Given the description of an element on the screen output the (x, y) to click on. 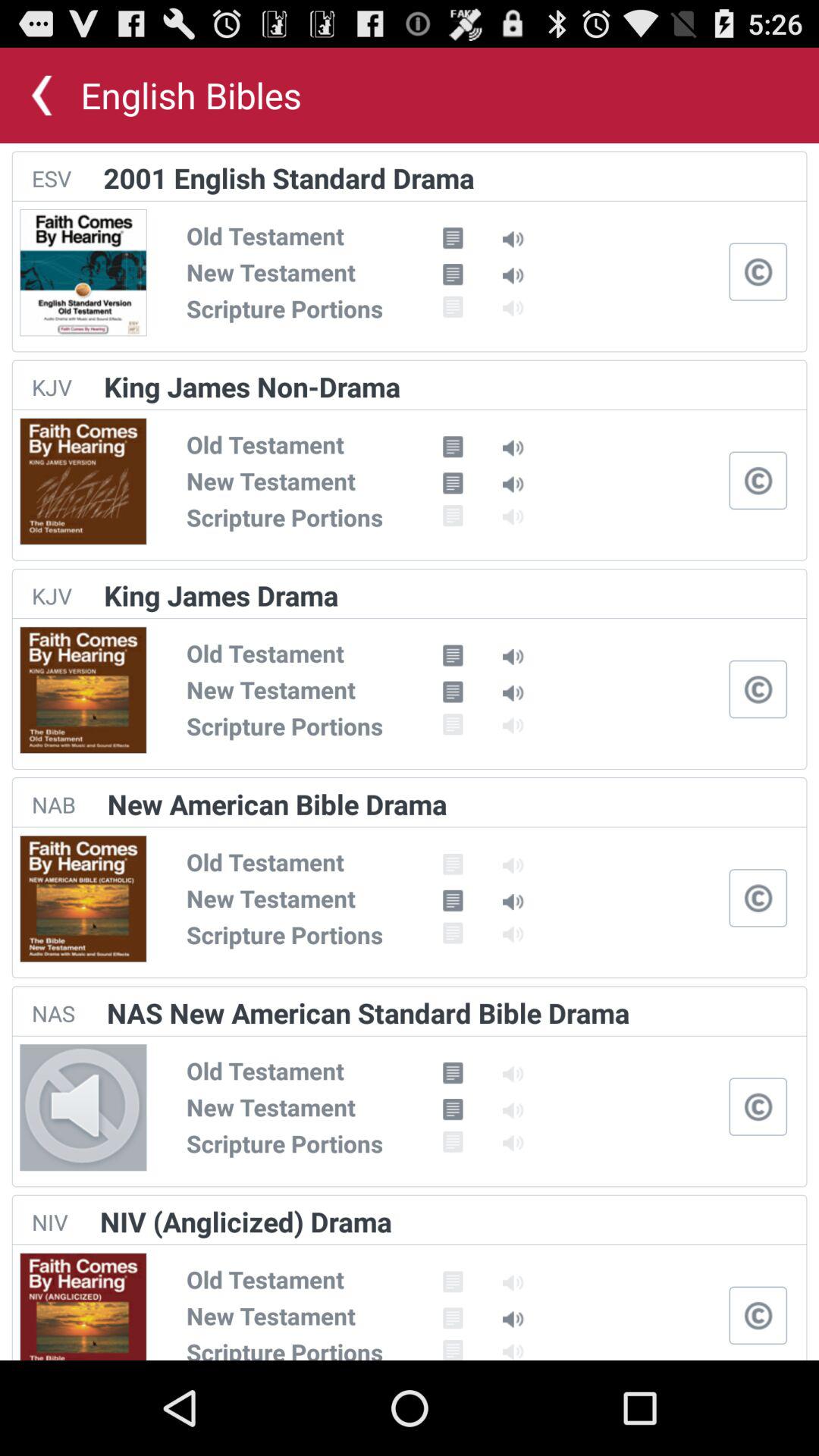
choose item next to the 2001 english standard (51, 178)
